Given the description of an element on the screen output the (x, y) to click on. 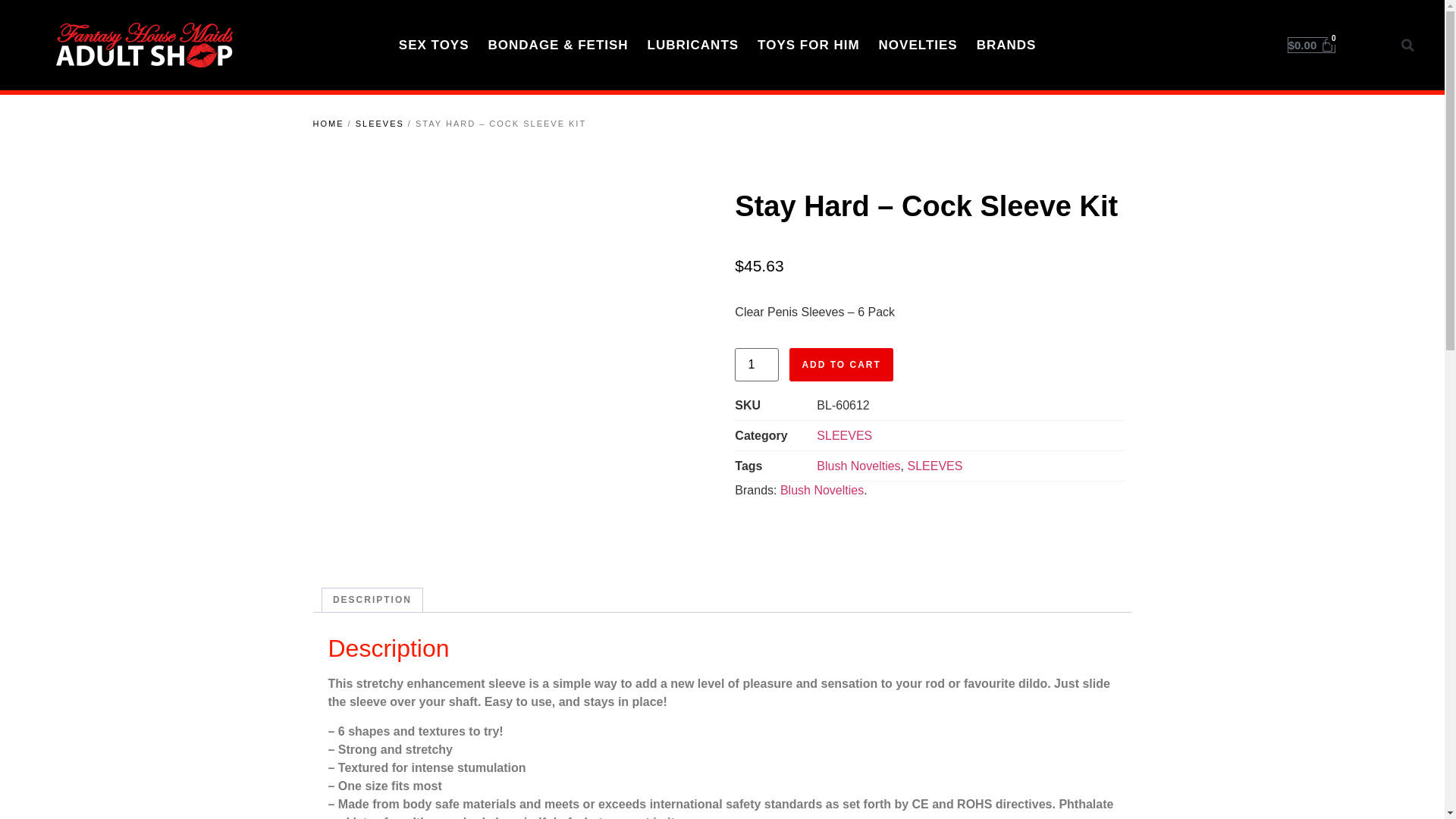
DESCRIPTION Element type: text (371, 599)
BRANDS Element type: text (1006, 45)
SLEEVES Element type: text (844, 435)
ADD TO CART Element type: text (840, 364)
NOVELTIES Element type: text (917, 45)
Blush Novelties Element type: text (858, 465)
LUBRICANTS Element type: text (693, 45)
Blush Novelties Element type: text (821, 489)
BONDAGE & FETISH Element type: text (558, 45)
$0.00
0 Element type: text (1311, 45)
TOYS FOR HIM Element type: text (808, 45)
SLEEVES Element type: text (934, 465)
SEX TOYS Element type: text (433, 45)
SLEEVES Element type: text (379, 123)
HOME Element type: text (327, 123)
